Given the description of an element on the screen output the (x, y) to click on. 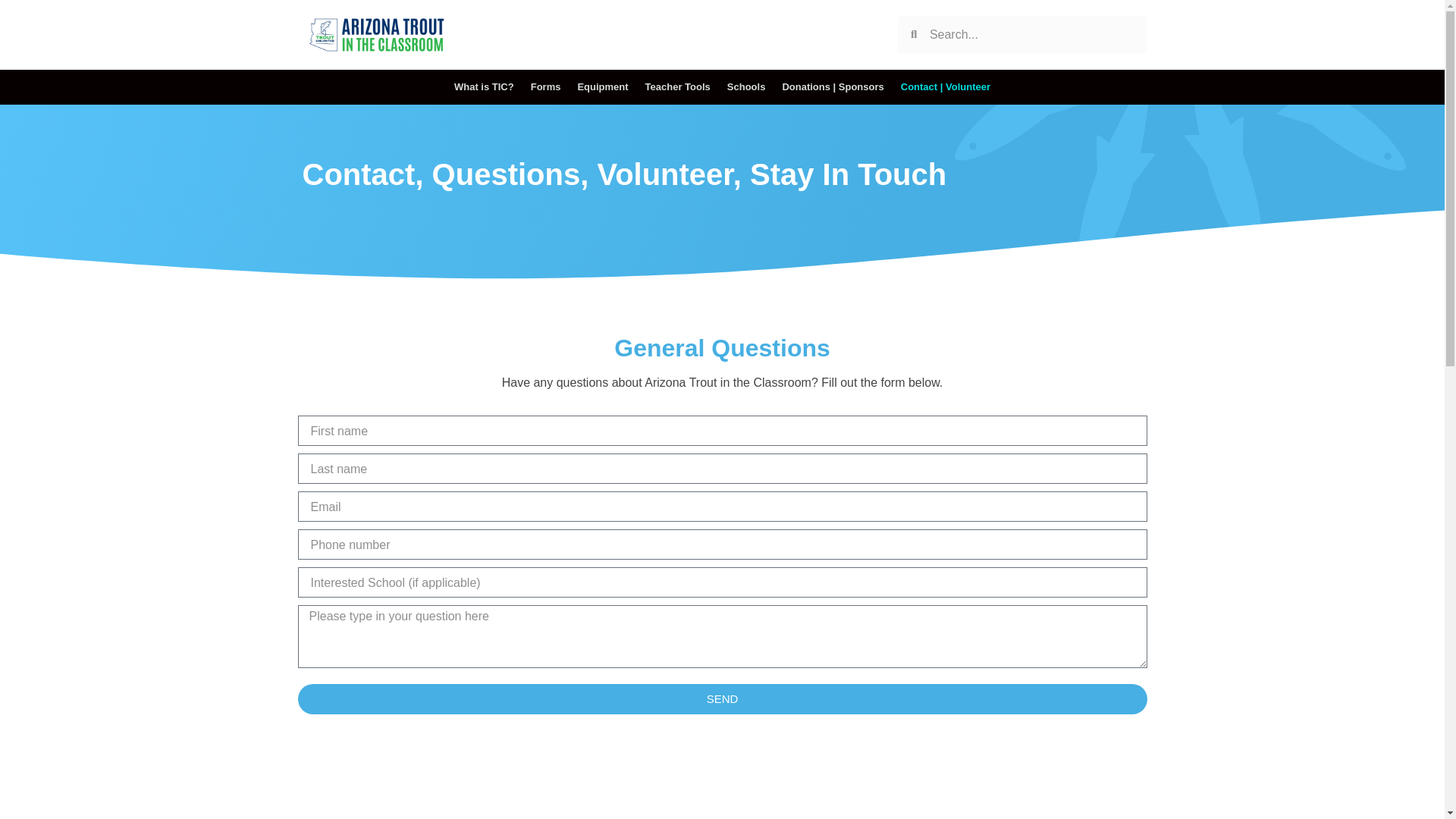
What is TIC? (483, 86)
Schools (746, 86)
Forms (545, 86)
Teacher Tools (678, 86)
Equipment (602, 86)
SEND (722, 698)
